Given the description of an element on the screen output the (x, y) to click on. 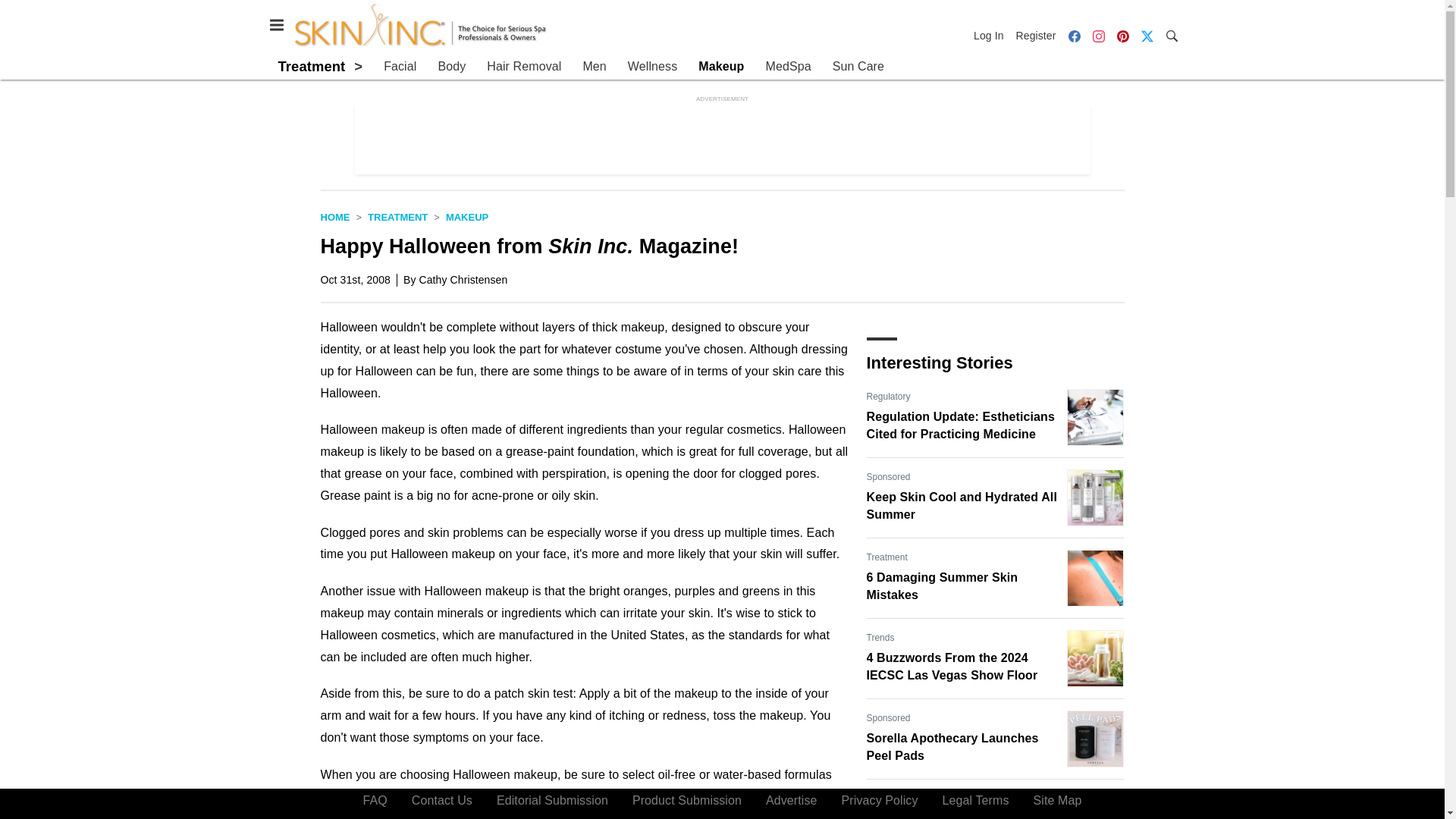
Makeup (721, 66)
MedSpa (787, 66)
Sponsored (888, 717)
3rd party ad content (722, 140)
Treatment (311, 65)
Treatment (886, 557)
Hair Removal (523, 66)
Facebook icon (1073, 35)
Facial (400, 66)
Sponsored (888, 476)
Body (451, 66)
Log In (992, 35)
Pinterest icon (1122, 36)
Treatment (398, 216)
Facebook icon (1073, 36)
